Given the description of an element on the screen output the (x, y) to click on. 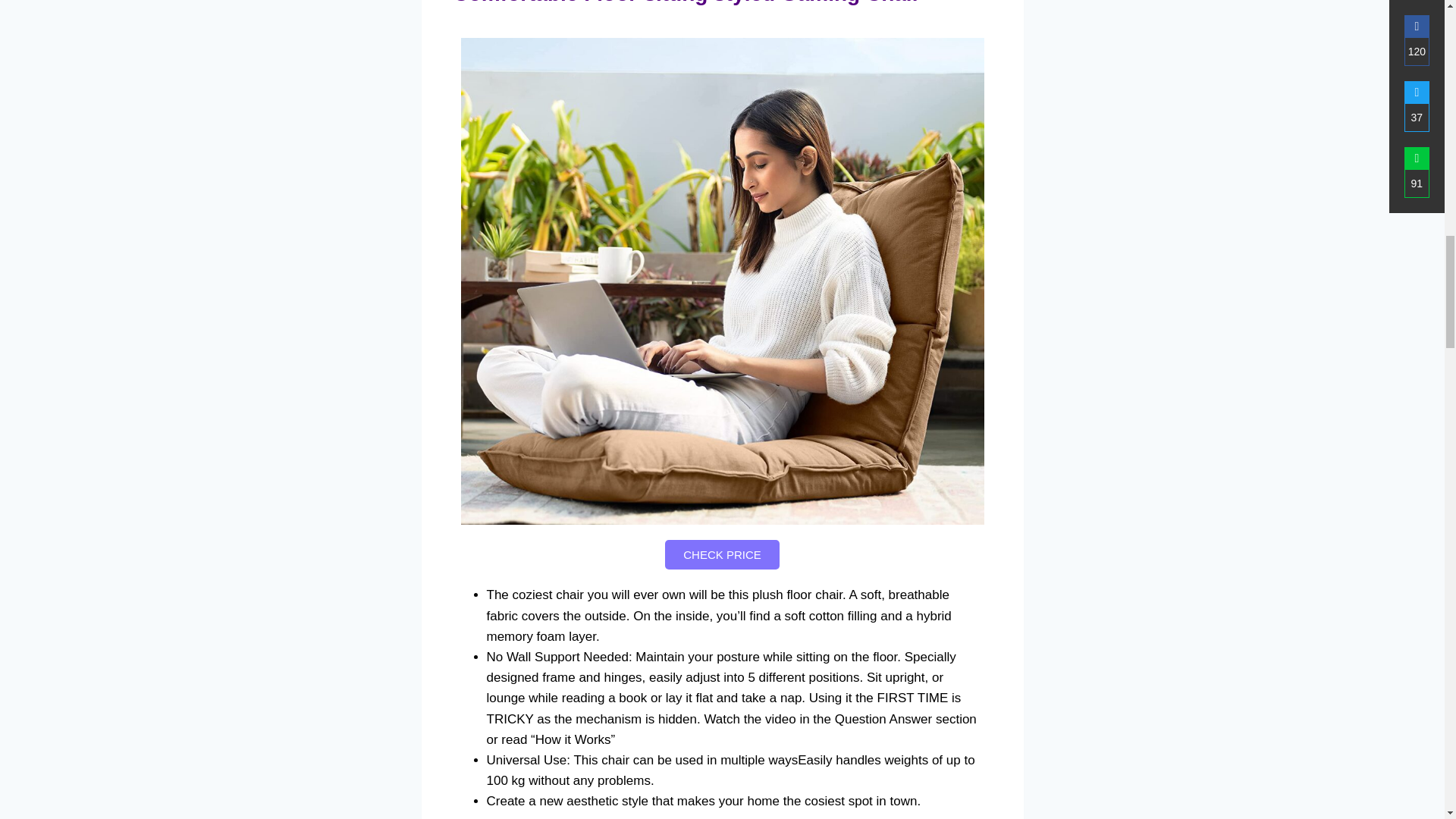
CHECK PRICE (721, 554)
